Given the description of an element on the screen output the (x, y) to click on. 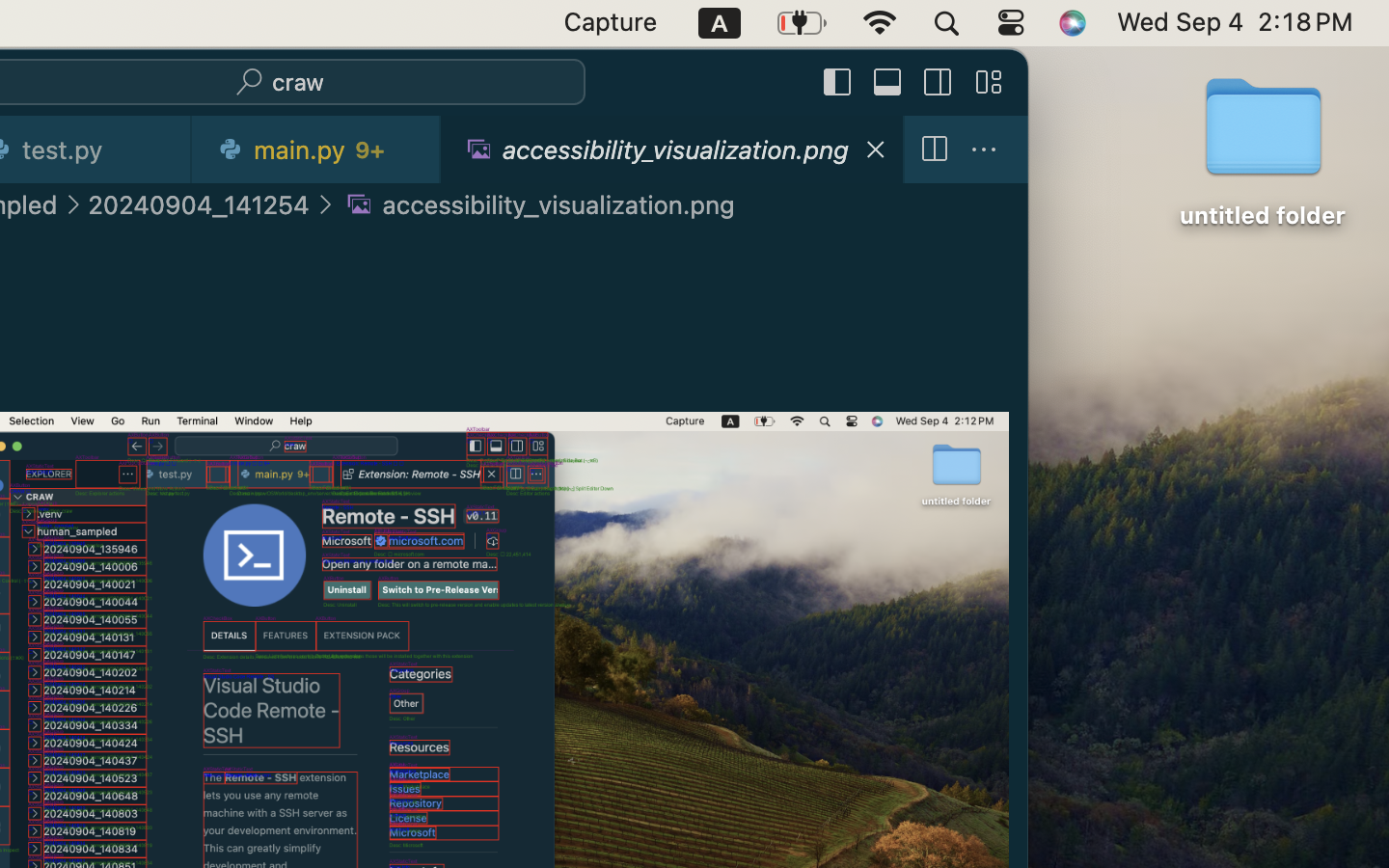
 Element type: AXStaticText (983, 150)
 Element type: AXButton (933, 150)
craw Element type: AXStaticText (298, 82)
 Element type: AXCheckBox (938, 82)
 Element type: AXButton (988, 82)
